Given the description of an element on the screen output the (x, y) to click on. 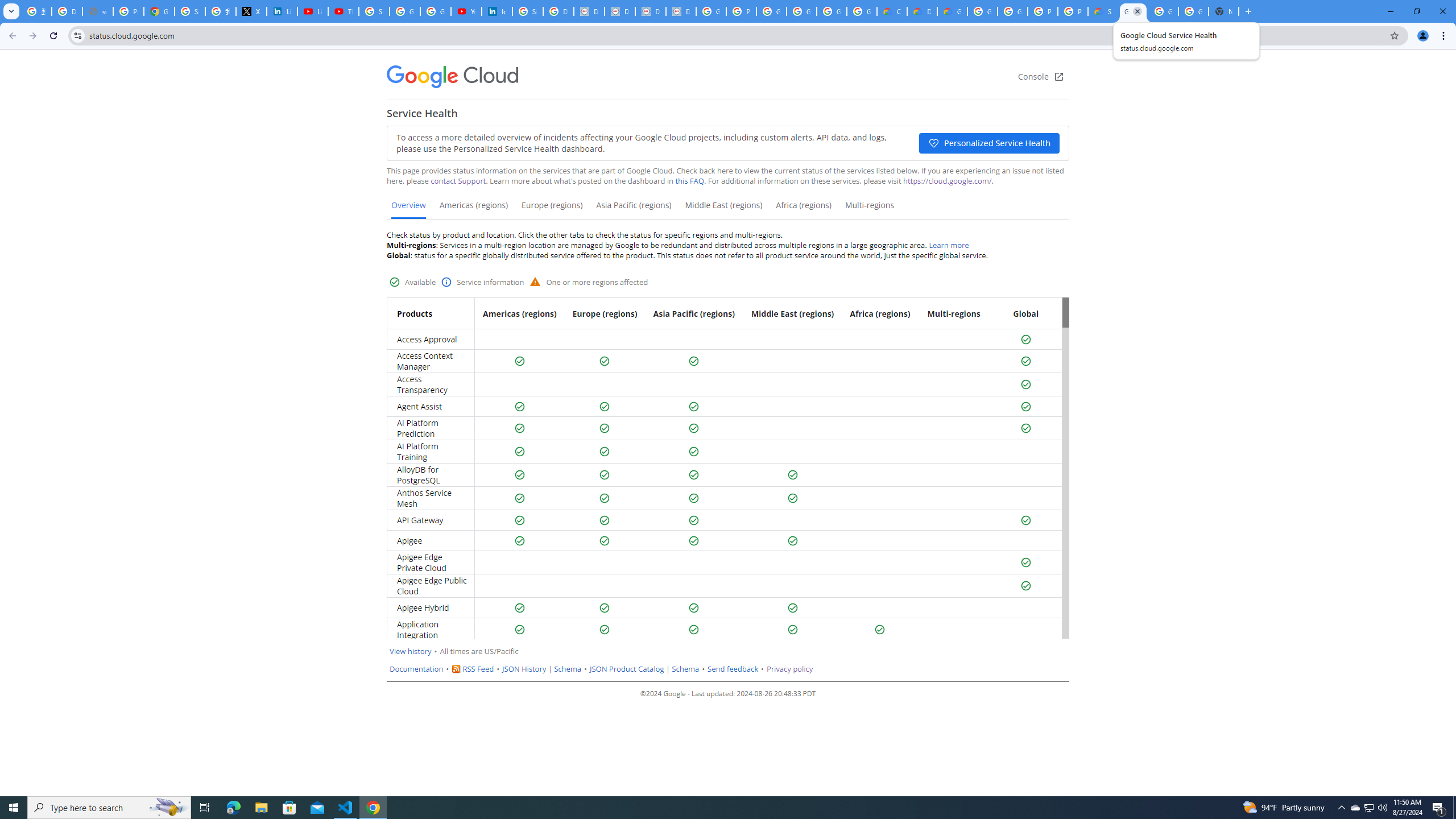
Google Cloud Platform (982, 11)
Learn more (948, 244)
Privacy policy (789, 668)
Europe (regions) (551, 209)
Google Cloud Service Health (1132, 11)
Personalized Service Health (988, 142)
Send feedback (732, 668)
Warning status (535, 281)
